Given the description of an element on the screen output the (x, y) to click on. 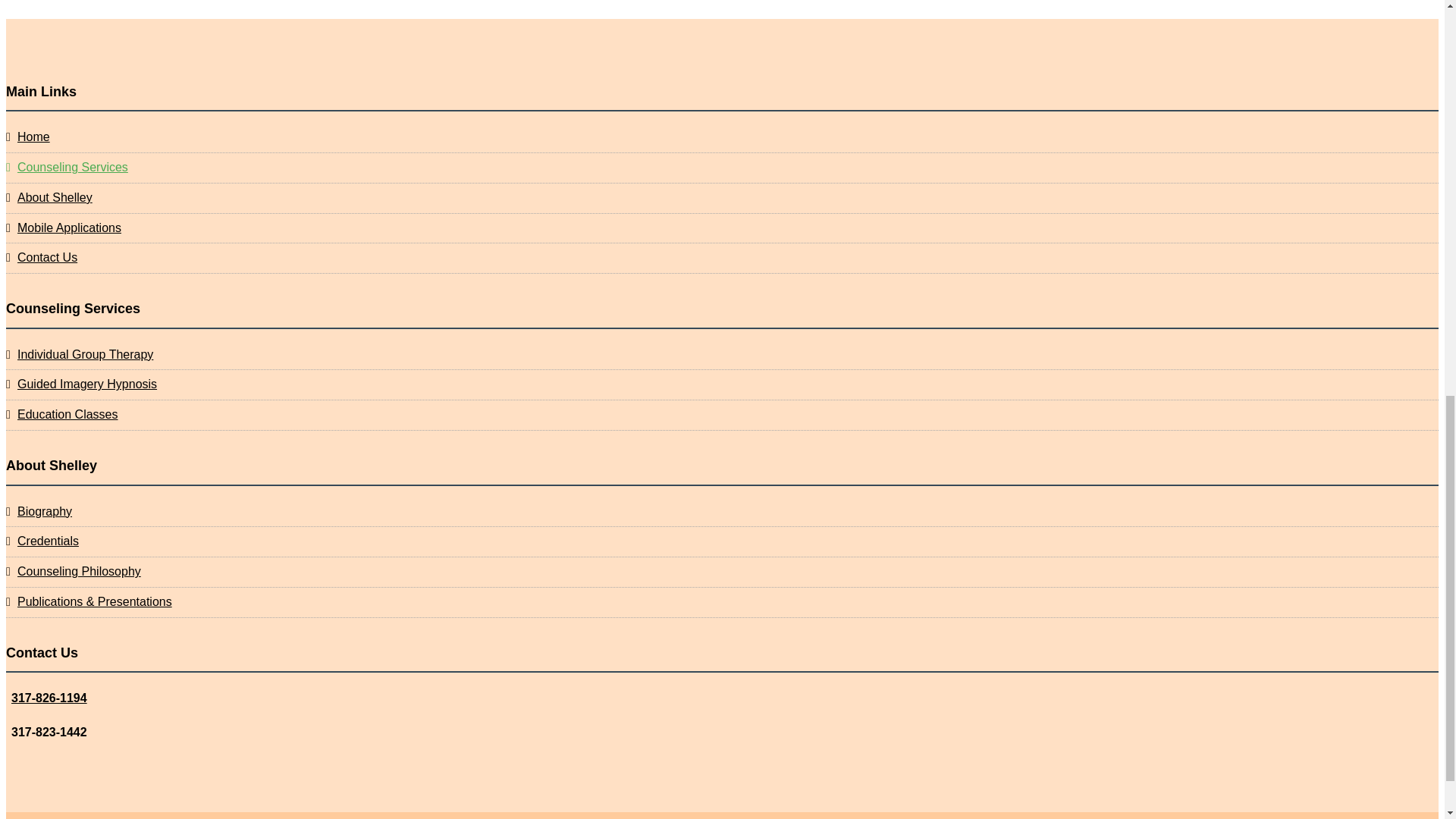
317-826-1194 (49, 697)
